Given the description of an element on the screen output the (x, y) to click on. 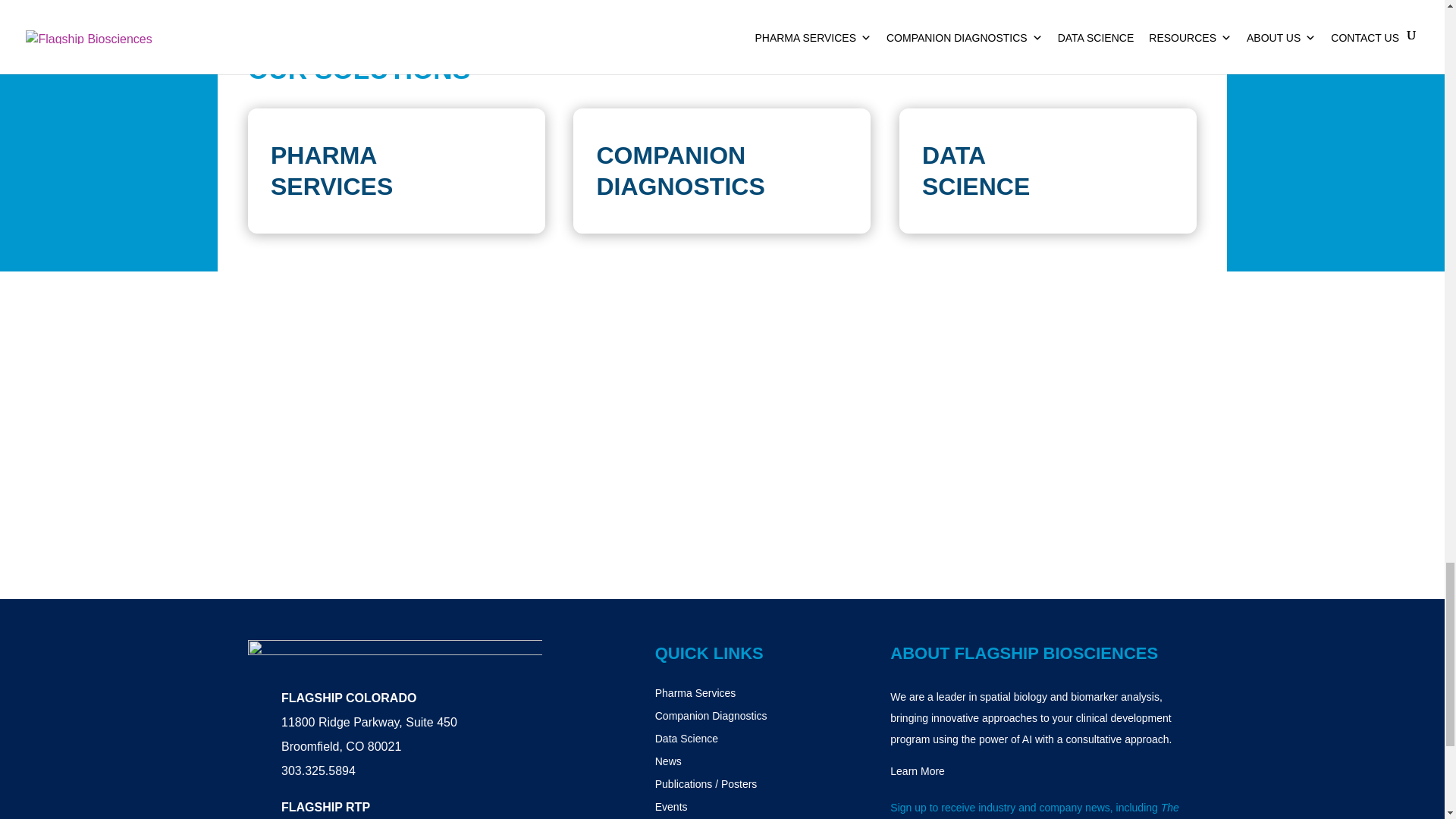
DATA (953, 154)
COMPANION DIAGNOSTICS (679, 170)
SERVICES (331, 185)
PHARMA (323, 154)
flagshipbio-horz-logo-rev-d-3-2X (394, 655)
SCIENCE (975, 185)
